Given the description of an element on the screen output the (x, y) to click on. 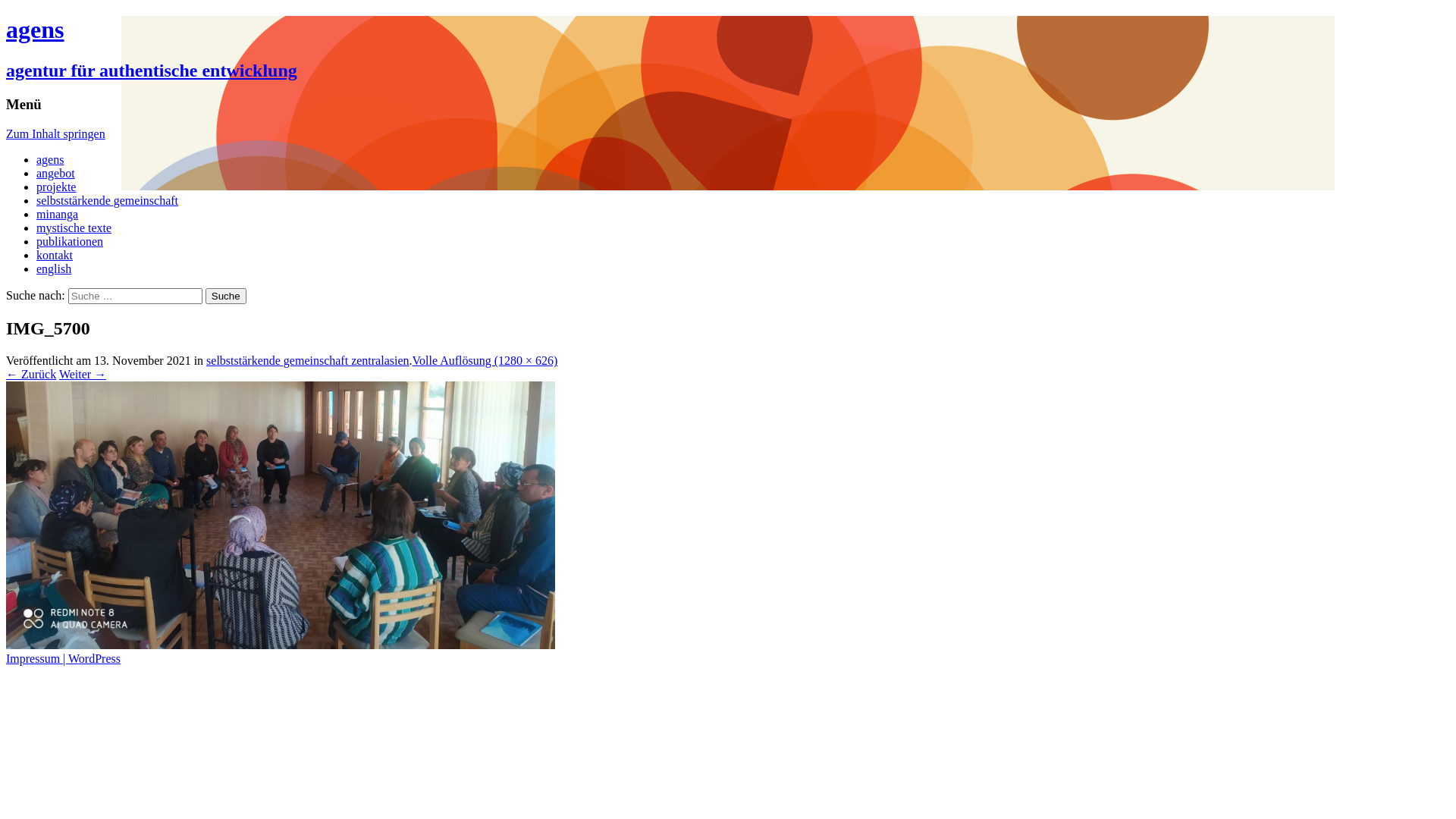
angebot Element type: text (55, 172)
Impressum | Element type: text (37, 658)
agens Element type: text (49, 159)
english Element type: text (53, 268)
Suche Element type: text (225, 296)
Suche nach: Element type: hover (135, 296)
minanga Element type: text (57, 213)
mystische texte Element type: text (73, 227)
IMG_5700 Element type: hover (280, 644)
publikationen Element type: text (69, 241)
WordPress Element type: text (94, 658)
kontakt Element type: text (54, 254)
Zum Inhalt springen Element type: text (55, 133)
projekte Element type: text (55, 186)
